Given the description of an element on the screen output the (x, y) to click on. 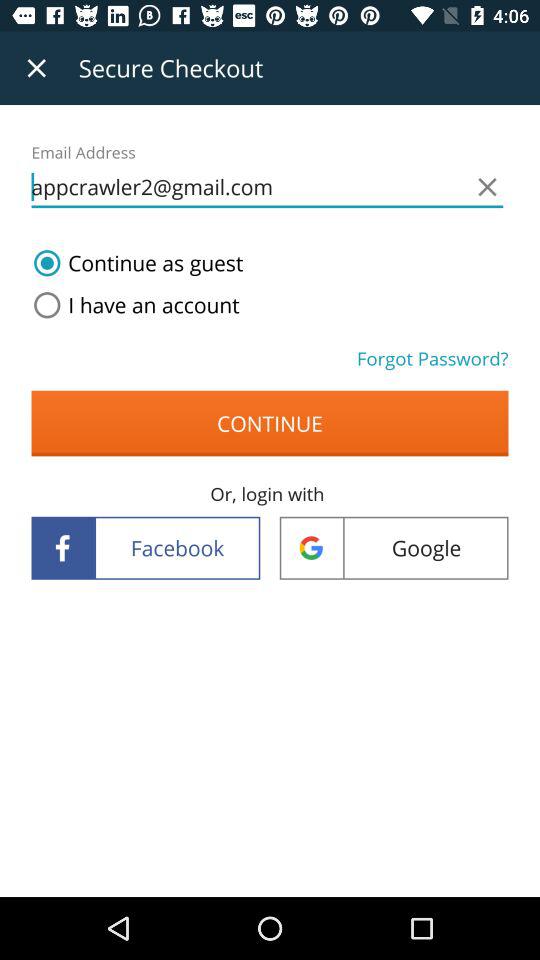
choose the item above continue item (432, 358)
